Given the description of an element on the screen output the (x, y) to click on. 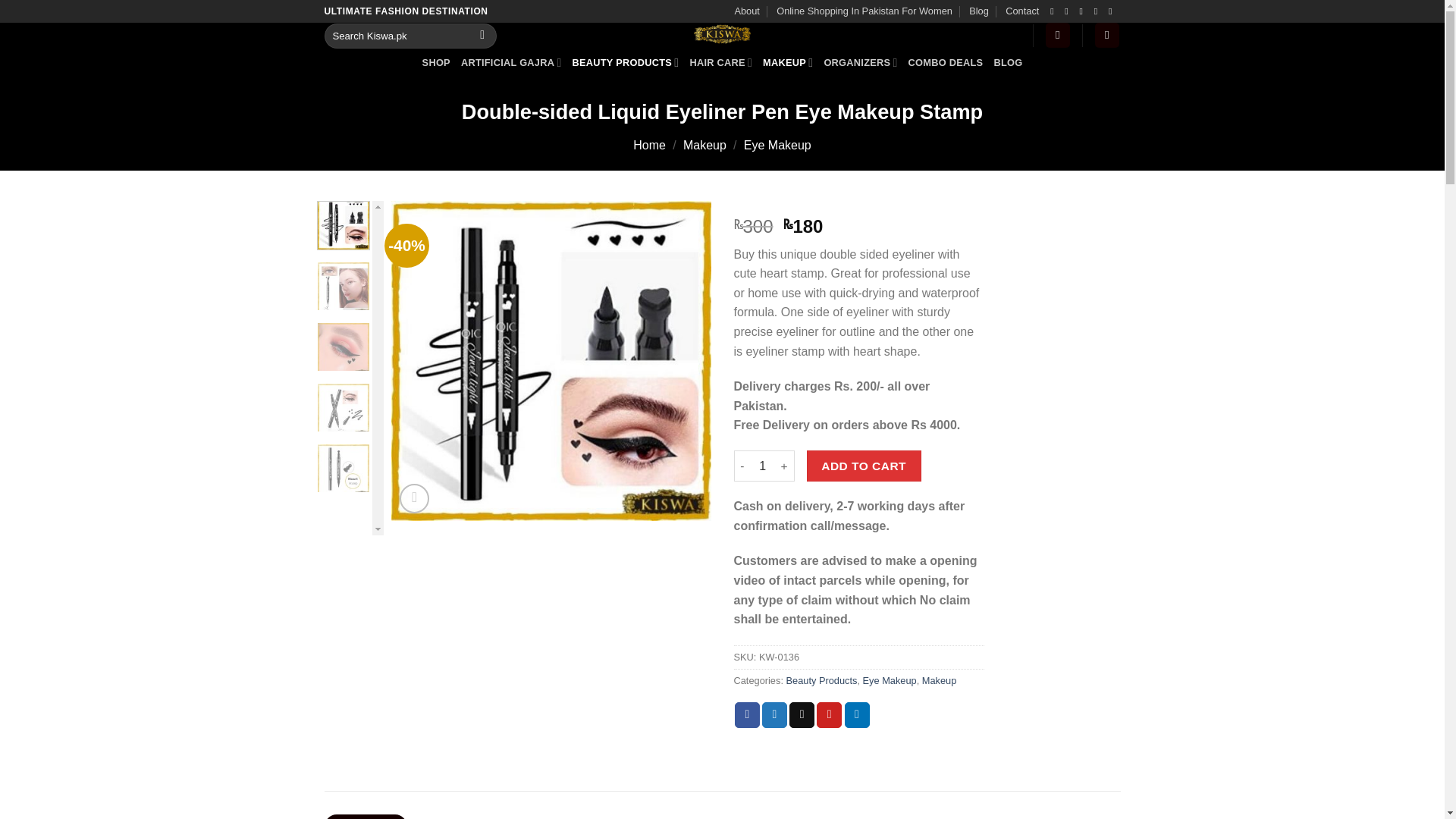
About (745, 11)
Contact (1022, 11)
Search (482, 35)
HAIR CARE (720, 62)
ORGANIZERS (860, 62)
BEAUTY PRODUCTS (625, 62)
Login (1057, 34)
COMBO DEALS (946, 62)
MAKEUP (787, 62)
ARTIFICIAL GAJRA (511, 62)
